Given the description of an element on the screen output the (x, y) to click on. 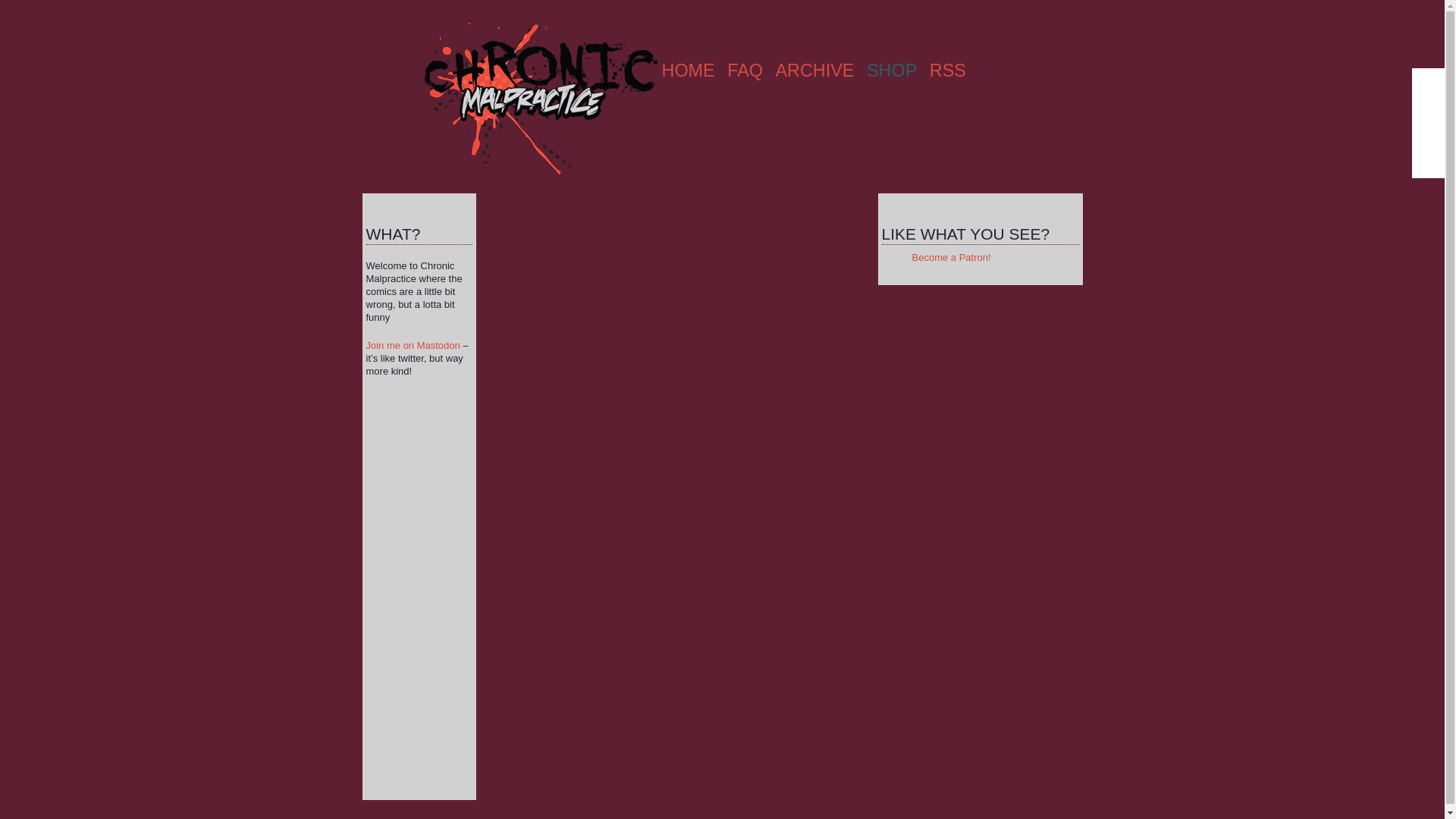
life is pain (891, 70)
chronic malpractice logo - click to go home (540, 99)
HOME (687, 70)
RSS (948, 70)
SHOP (891, 70)
BECOME MY FAVORITE PATRON ON PATREON (1430, 89)
Join me on Mastodon (412, 345)
FAQ (744, 70)
Become the best patron (1430, 89)
Become a Patron! (950, 256)
